Given the description of an element on the screen output the (x, y) to click on. 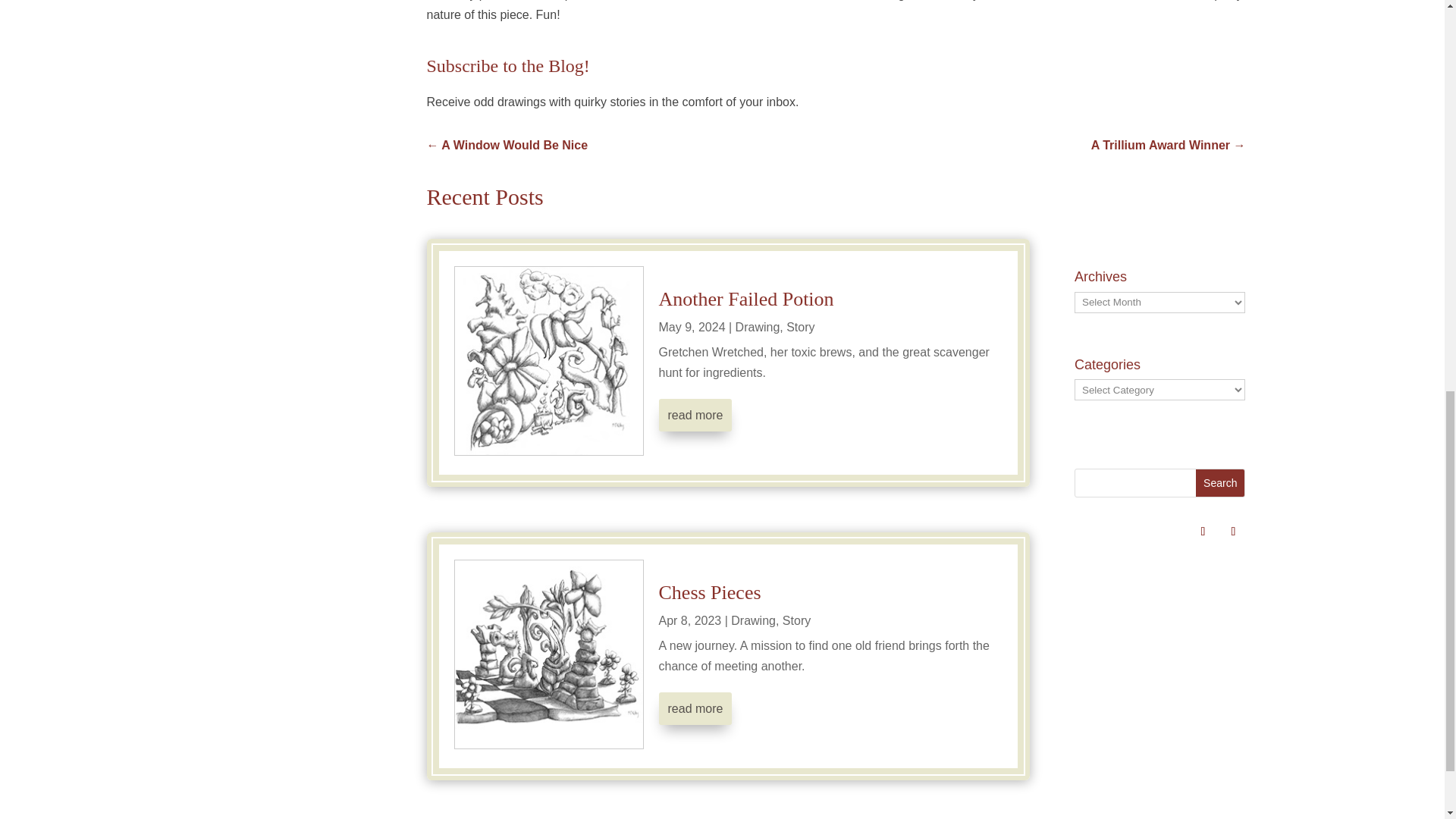
Search (1219, 482)
Follow on Instagram (1202, 531)
Follow on Facebook (1232, 531)
Search (1219, 482)
